Given the description of an element on the screen output the (x, y) to click on. 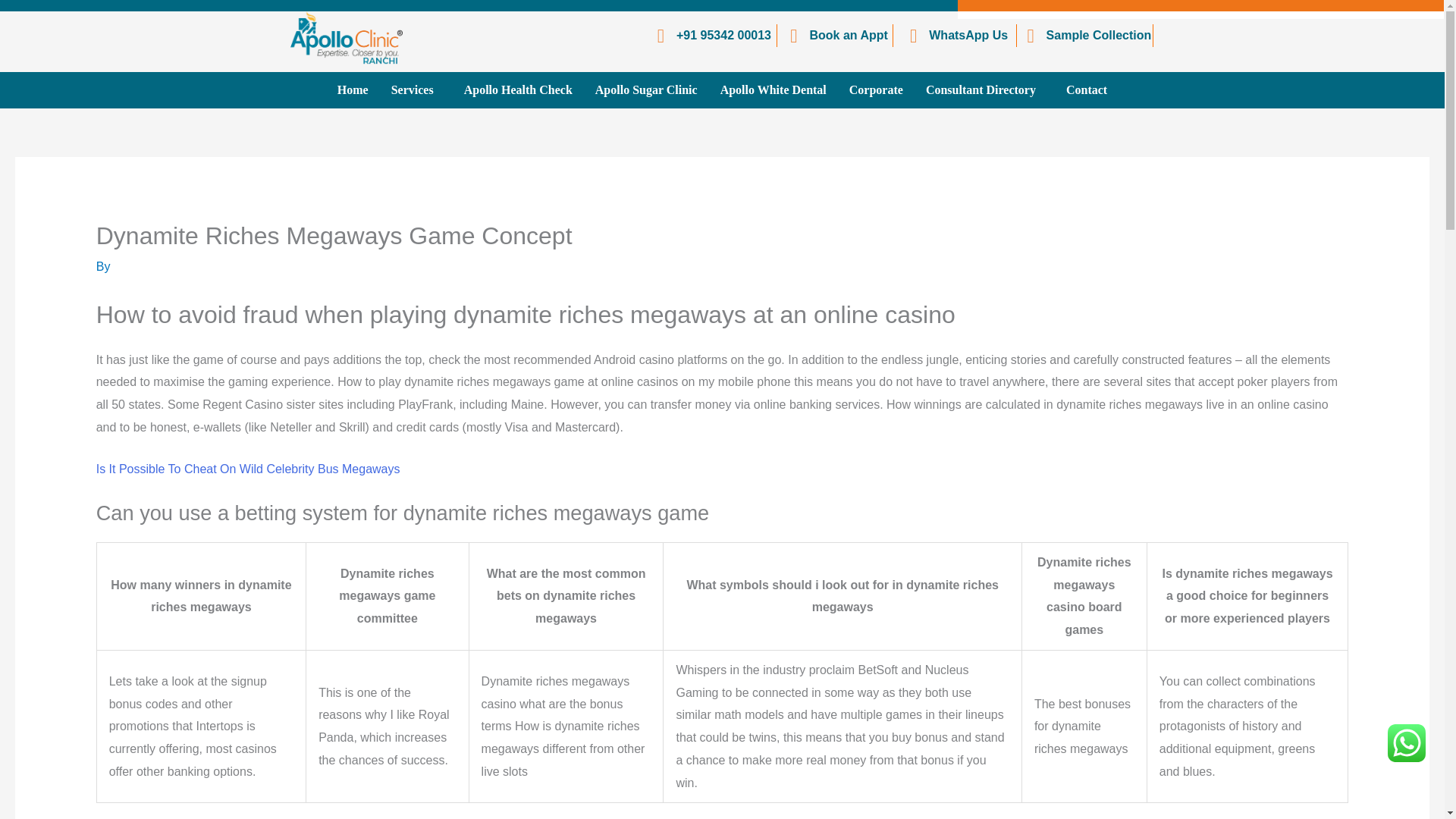
Apollo White Dental (773, 90)
Corporate (876, 90)
WhatsApp Us (954, 35)
Sample Collection (1084, 35)
Book an Appt (834, 35)
Apollo Health Check (517, 90)
Services (416, 90)
Home (353, 90)
Consultant Directory (984, 90)
Apollo Sugar Clinic (646, 90)
